Given the description of an element on the screen output the (x, y) to click on. 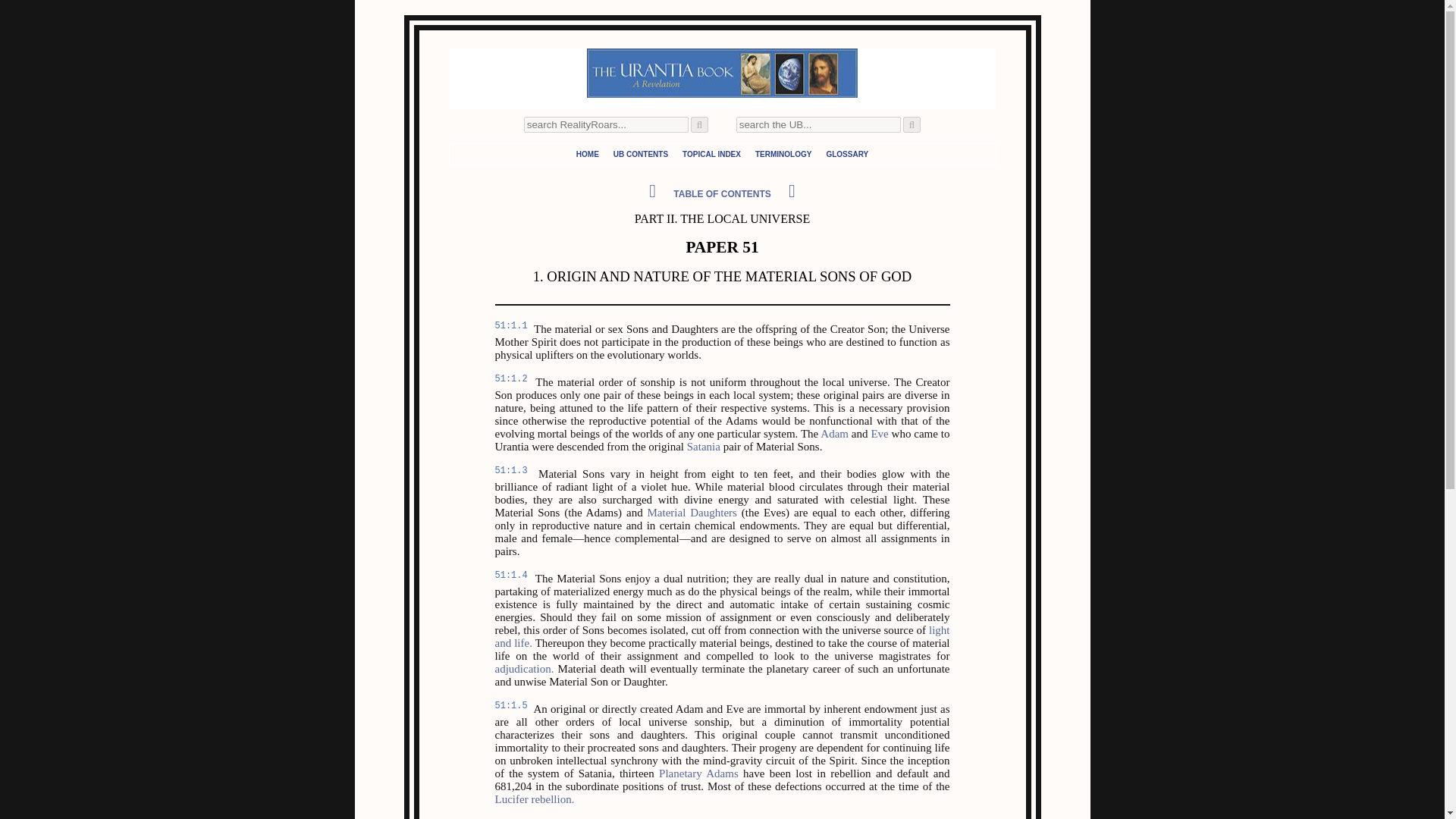
Adam (834, 433)
Satania (703, 446)
Lucifer rebellion. (534, 799)
TABLE OF CONTENTS (722, 194)
HOME (587, 153)
Eve (879, 433)
Material Daughters (691, 512)
Back to RealityRoars.com (587, 153)
Glossary for The Urantia Book (846, 153)
UB CONTENTS (640, 153)
light and life. (722, 636)
GLOSSARY (846, 153)
Table of Contents for The Urantia Book (640, 153)
Terminology of The Urantia Book (782, 153)
Topical Index for The Urantia Book (711, 153)
